Given the description of an element on the screen output the (x, y) to click on. 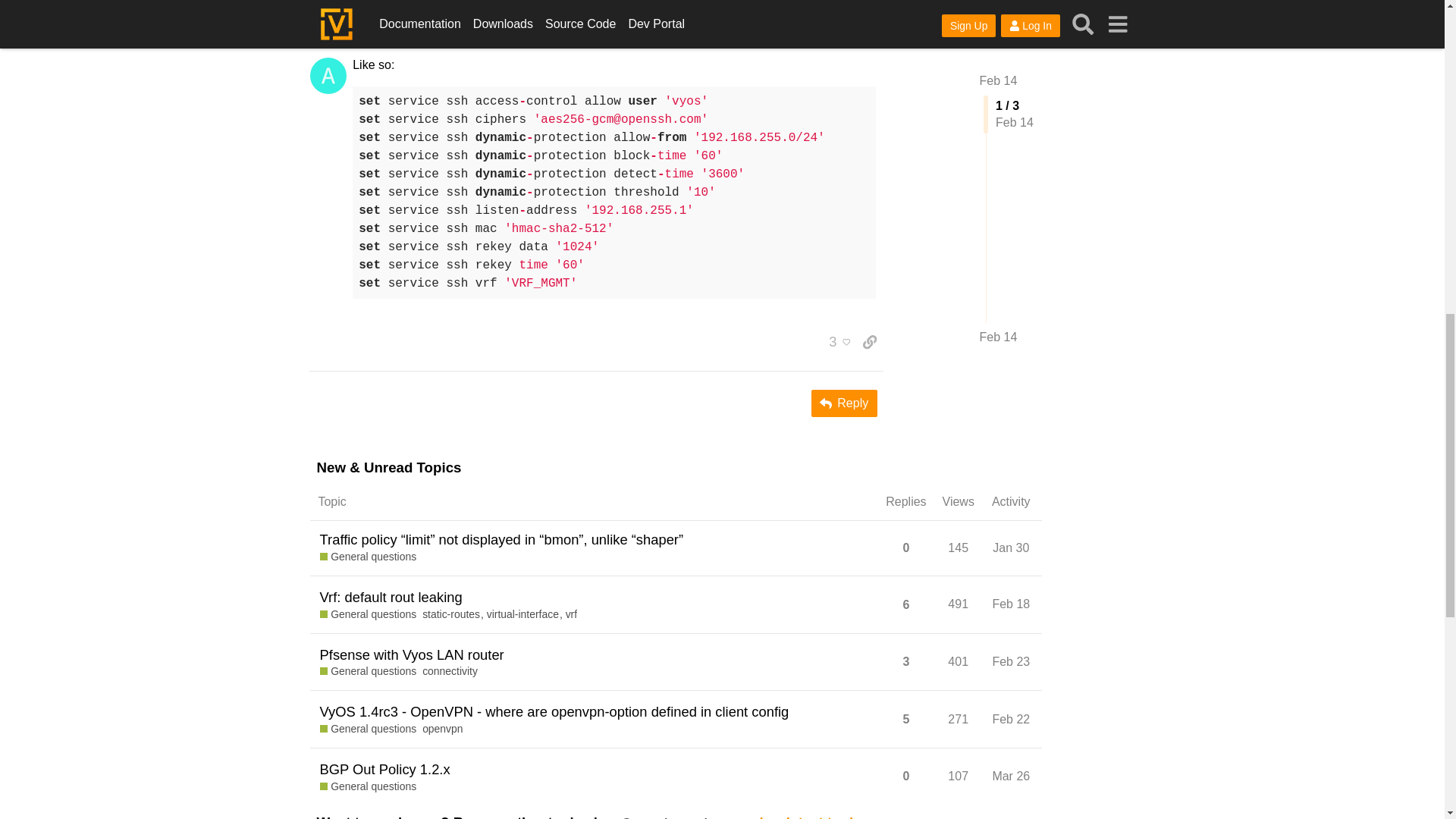
3 (835, 341)
